Given the description of an element on the screen output the (x, y) to click on. 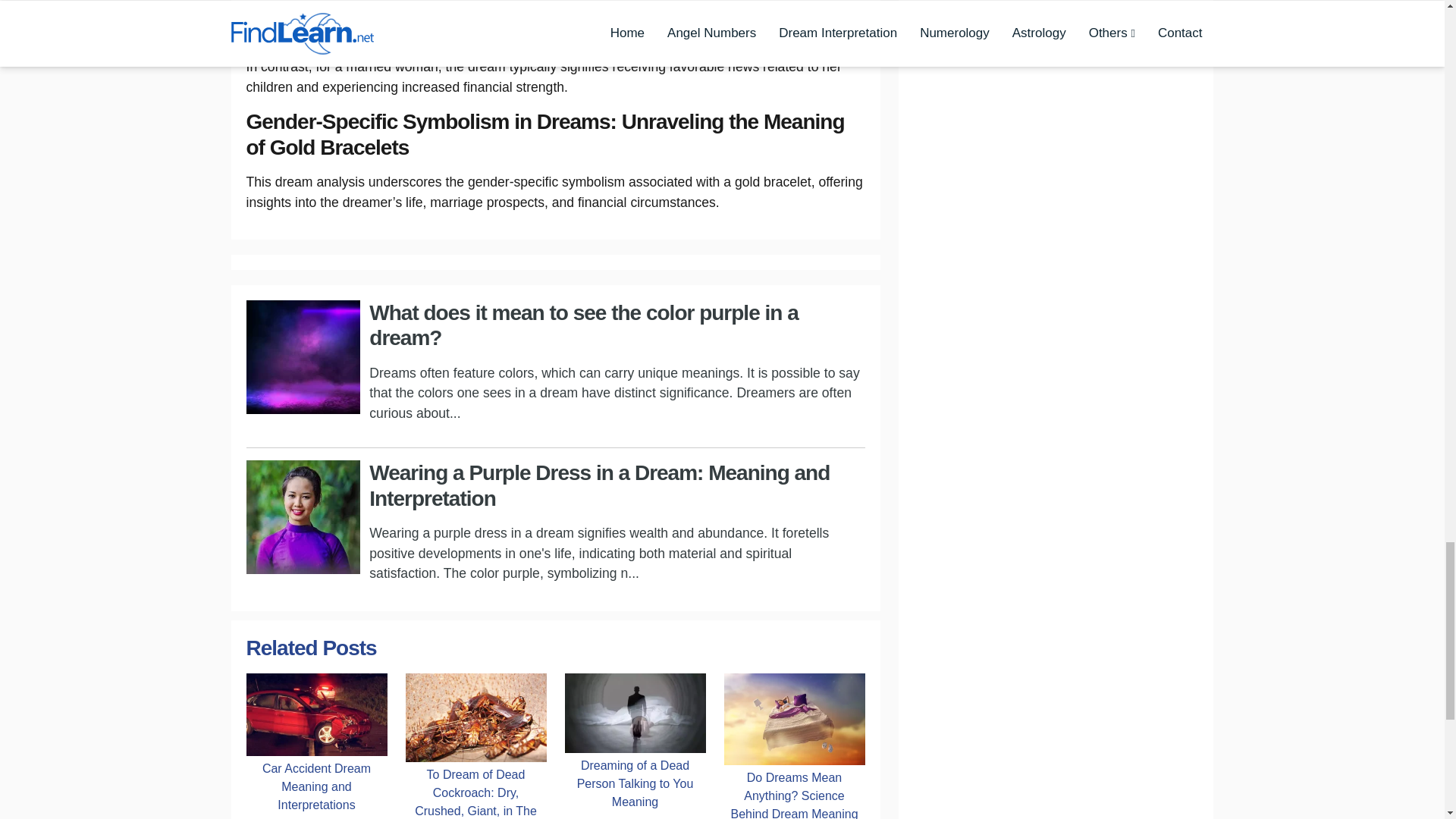
Car Accident Dream Meaning and Interpretations (316, 786)
Dreaming of a Dead Person Talking to You Meaning (634, 783)
Car Accident Dream Meaning and Interpretations (316, 713)
Do Dreams Mean Anything? Science Behind Dream Meaning (793, 791)
